Given the description of an element on the screen output the (x, y) to click on. 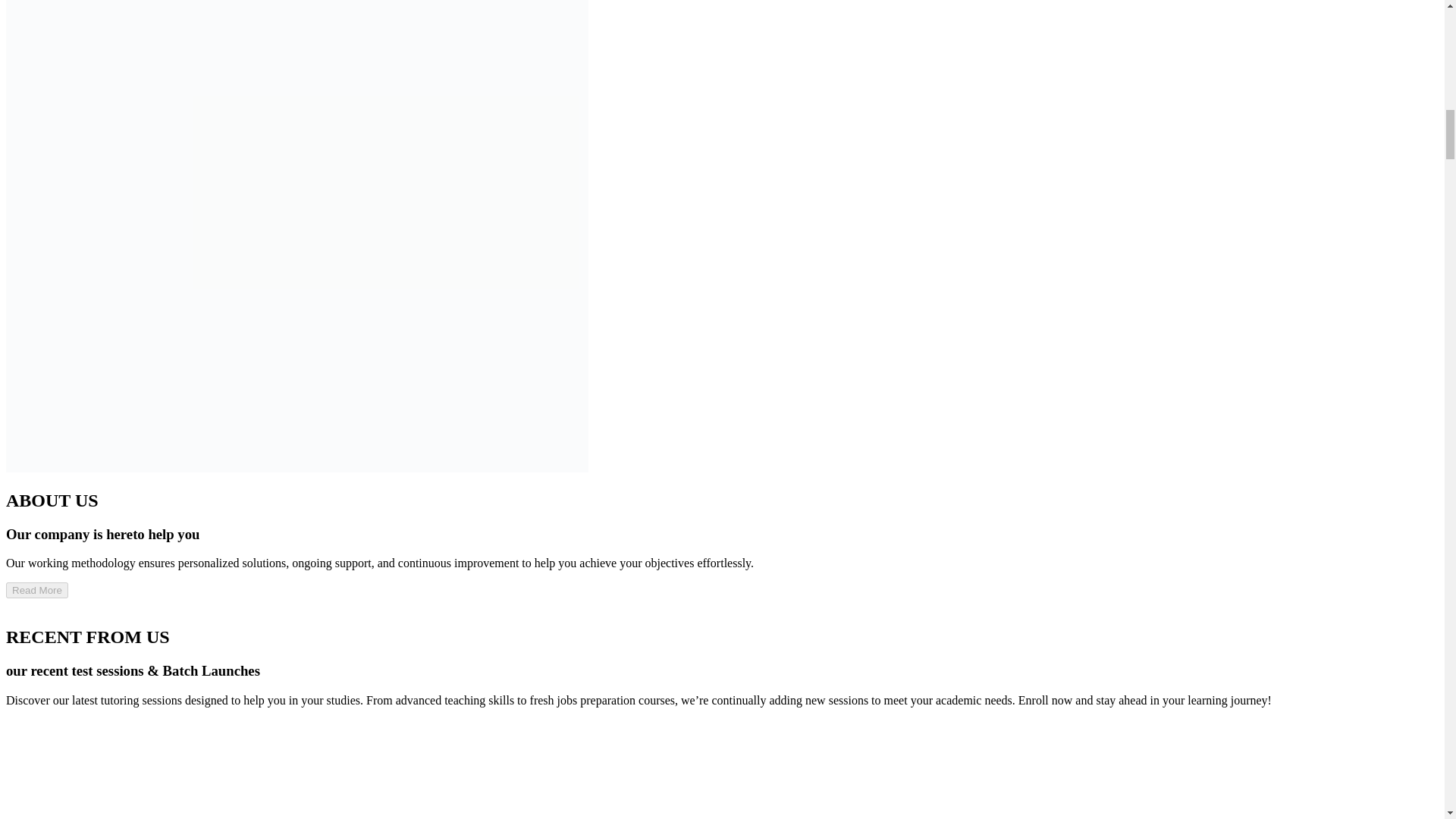
Read More (36, 590)
